Given the description of an element on the screen output the (x, y) to click on. 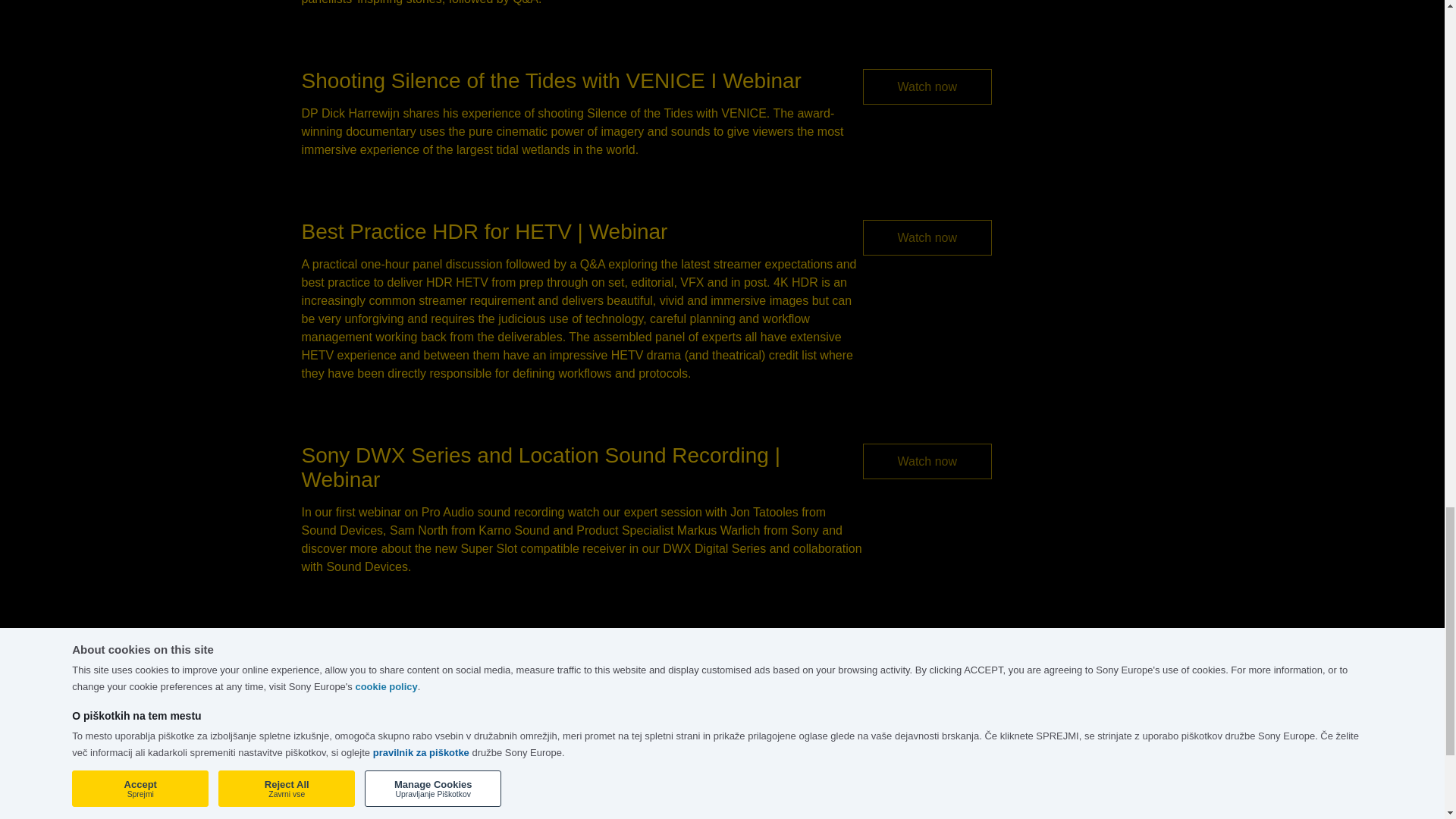
Watch now (927, 86)
Watch now (927, 237)
Watch now (927, 654)
Watch now (927, 461)
